Given the description of an element on the screen output the (x, y) to click on. 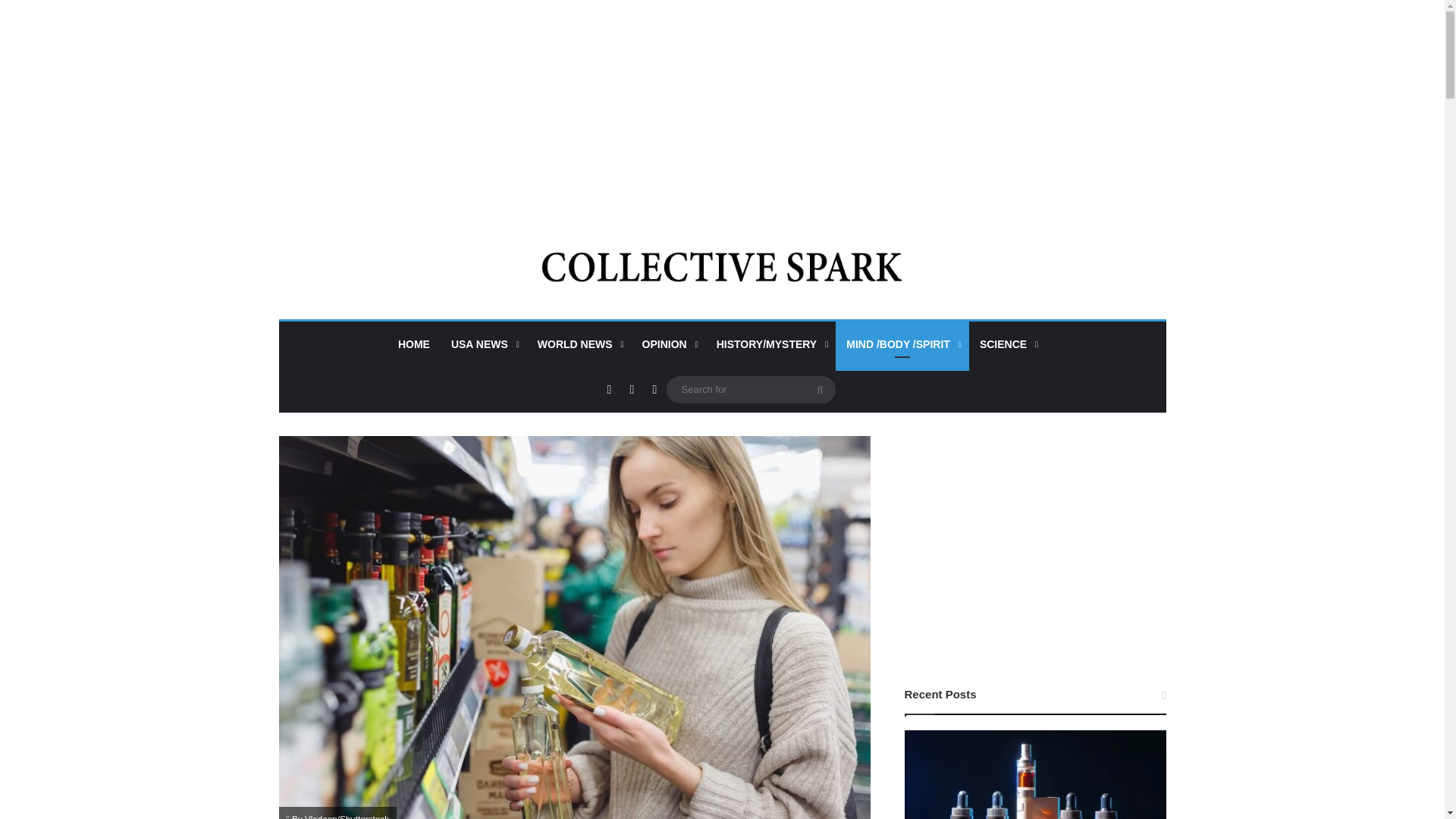
Collective Spark (722, 265)
OPINION (668, 343)
Search for (820, 389)
SCIENCE (1007, 343)
USA NEWS (484, 343)
Search for (749, 389)
WORLD NEWS (579, 343)
HOME (414, 343)
